Given the description of an element on the screen output the (x, y) to click on. 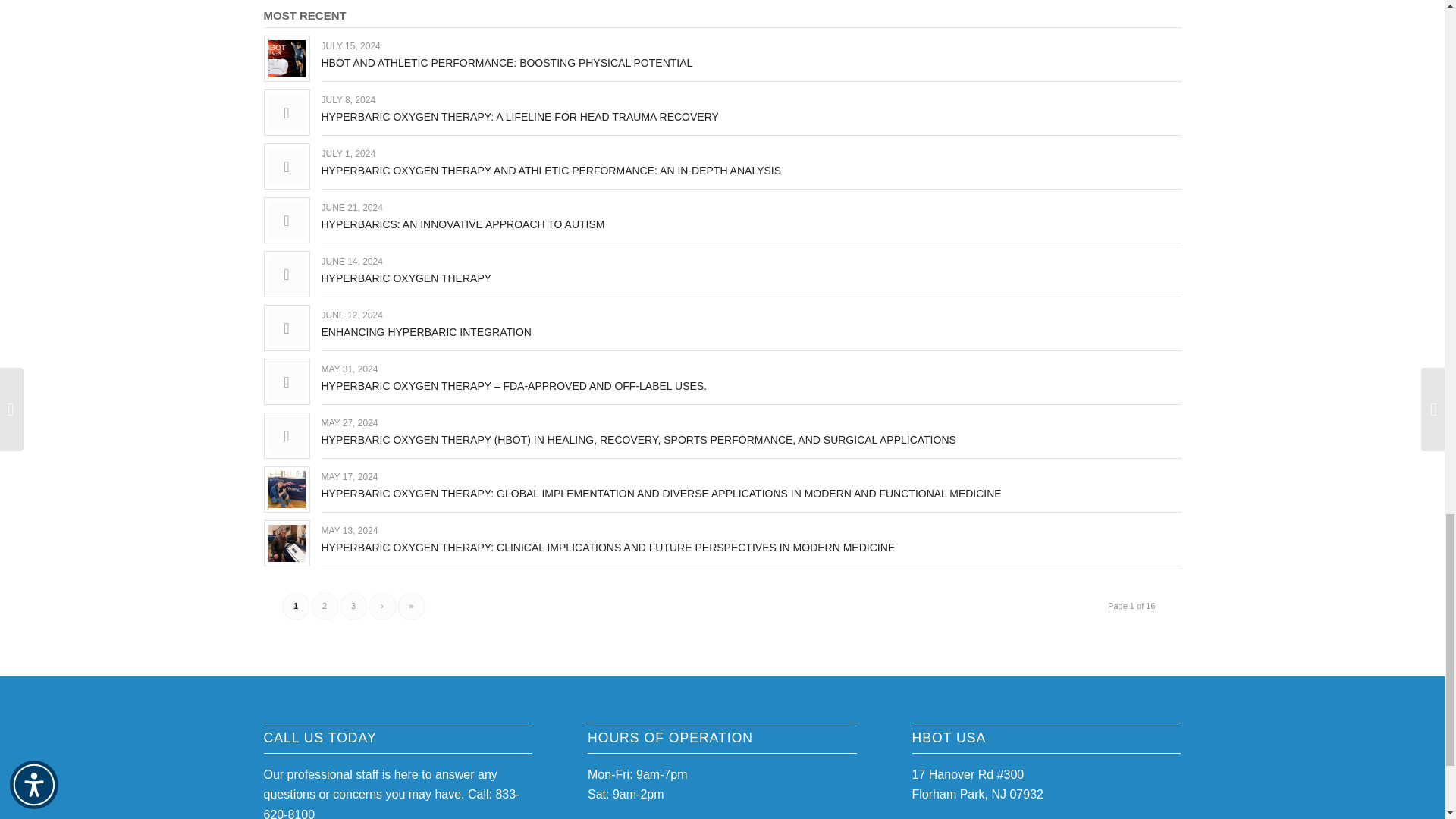
2 (324, 605)
HBOT AND ATHLETIC PERFORMANCE: BOOSTING PHYSICAL POTENTIAL (507, 62)
HYPERBARICS: AN INNOVATIVE APPROACH TO AUTISM (463, 224)
3 (352, 605)
ENHANCING HYPERBARIC INTEGRATION (426, 331)
HYPERBARIC OXYGEN THERAPY (406, 277)
